Given the description of an element on the screen output the (x, y) to click on. 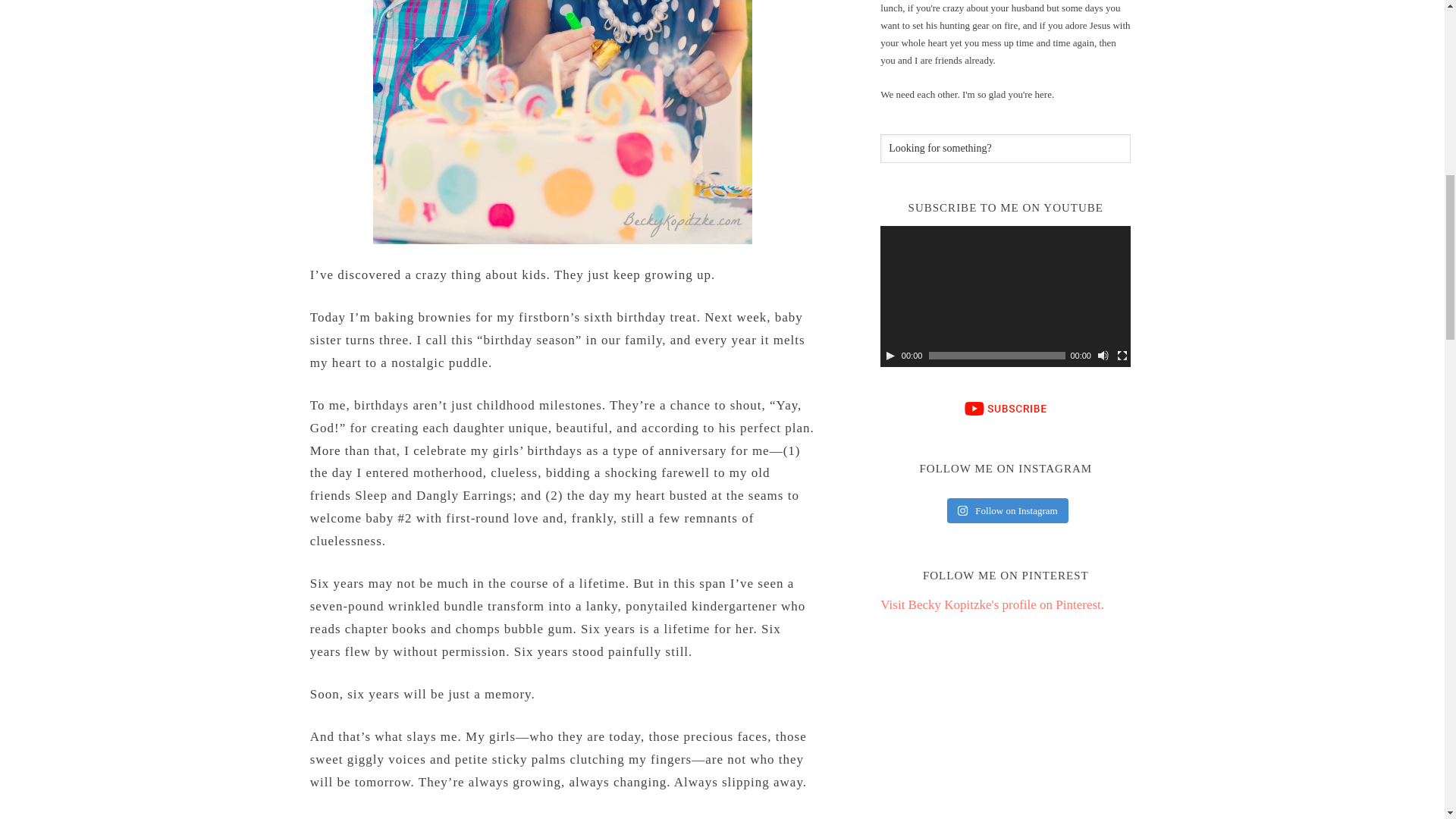
Fullscreen (1122, 355)
Follow on Instagram (1007, 510)
Visit Becky Kopitzke's profile on Pinterest. (991, 604)
Mute (1103, 355)
Play (889, 355)
